Given the description of an element on the screen output the (x, y) to click on. 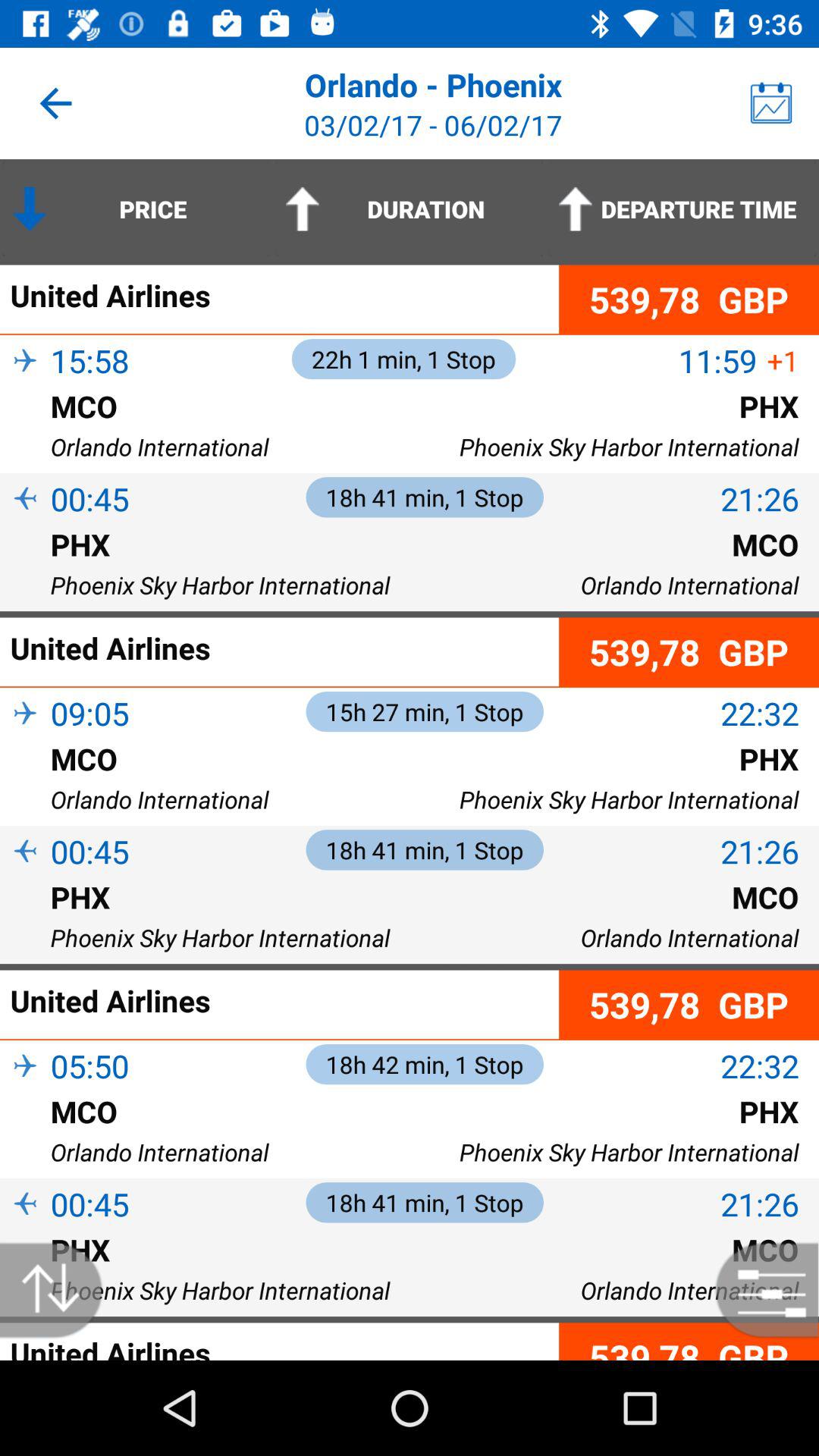
choose item next to the united airlines (717, 360)
